Given the description of an element on the screen output the (x, y) to click on. 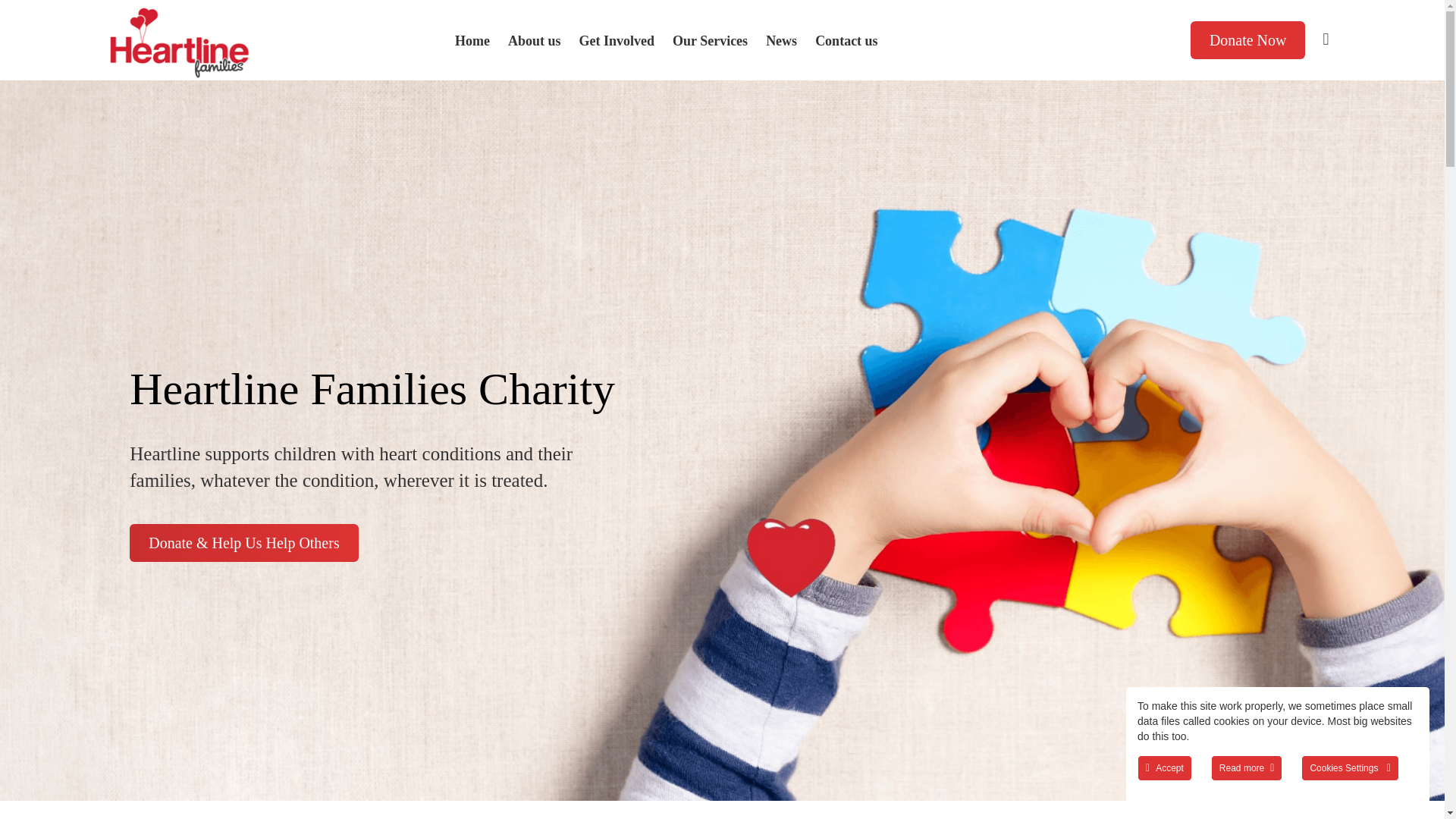
About us (534, 40)
Donate Now (1248, 39)
Contact us (846, 40)
Home (472, 40)
News (781, 40)
Get Involved (616, 40)
Our Services (710, 40)
